Given the description of an element on the screen output the (x, y) to click on. 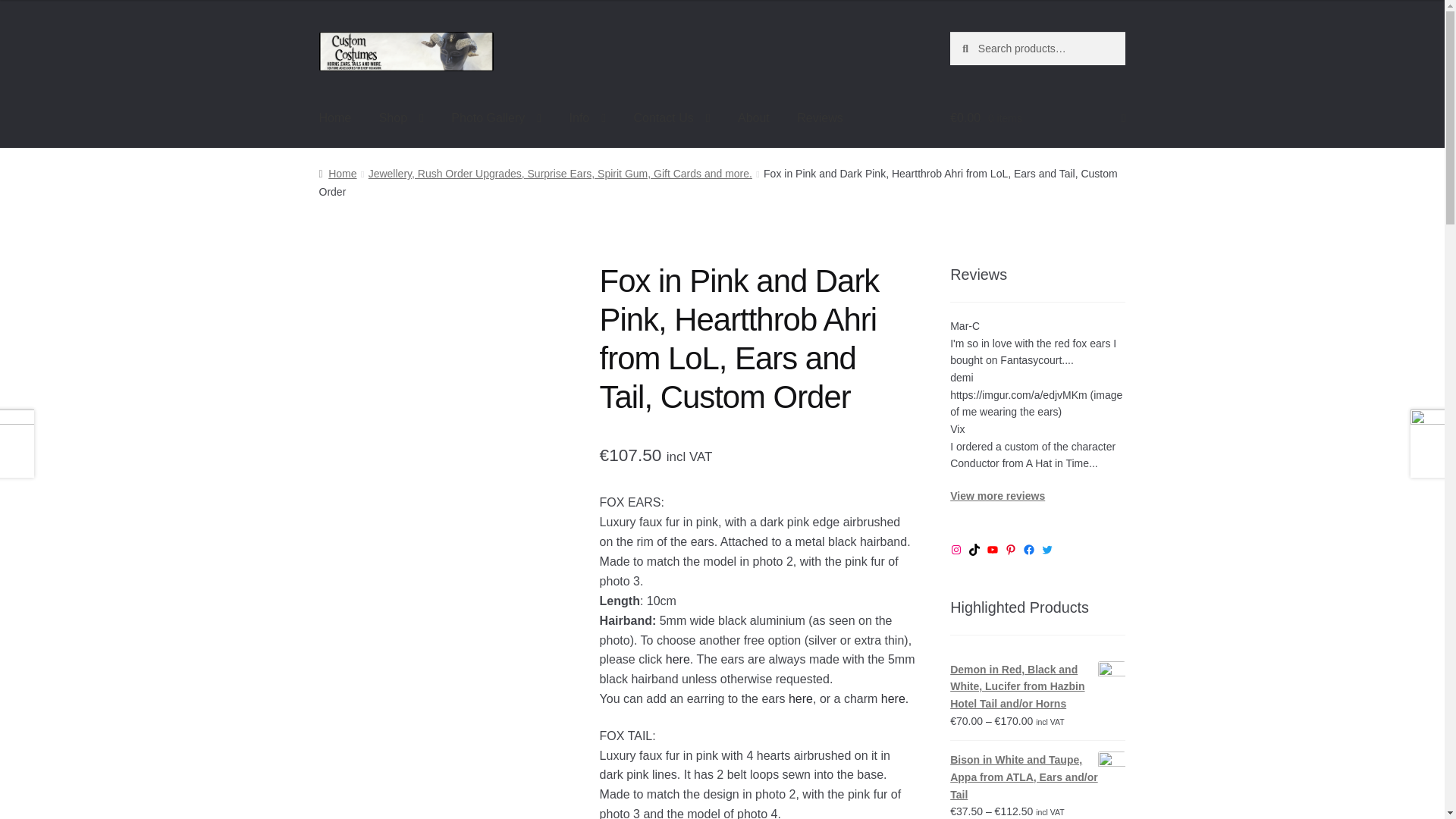
Photo Gallery (496, 118)
Contact Us (671, 118)
Reviews (819, 118)
Info (587, 118)
Click here to get to the guestbook. (997, 495)
Home (335, 118)
Shop (400, 118)
About (753, 118)
View your shopping basket (1037, 118)
